Given the description of an element on the screen output the (x, y) to click on. 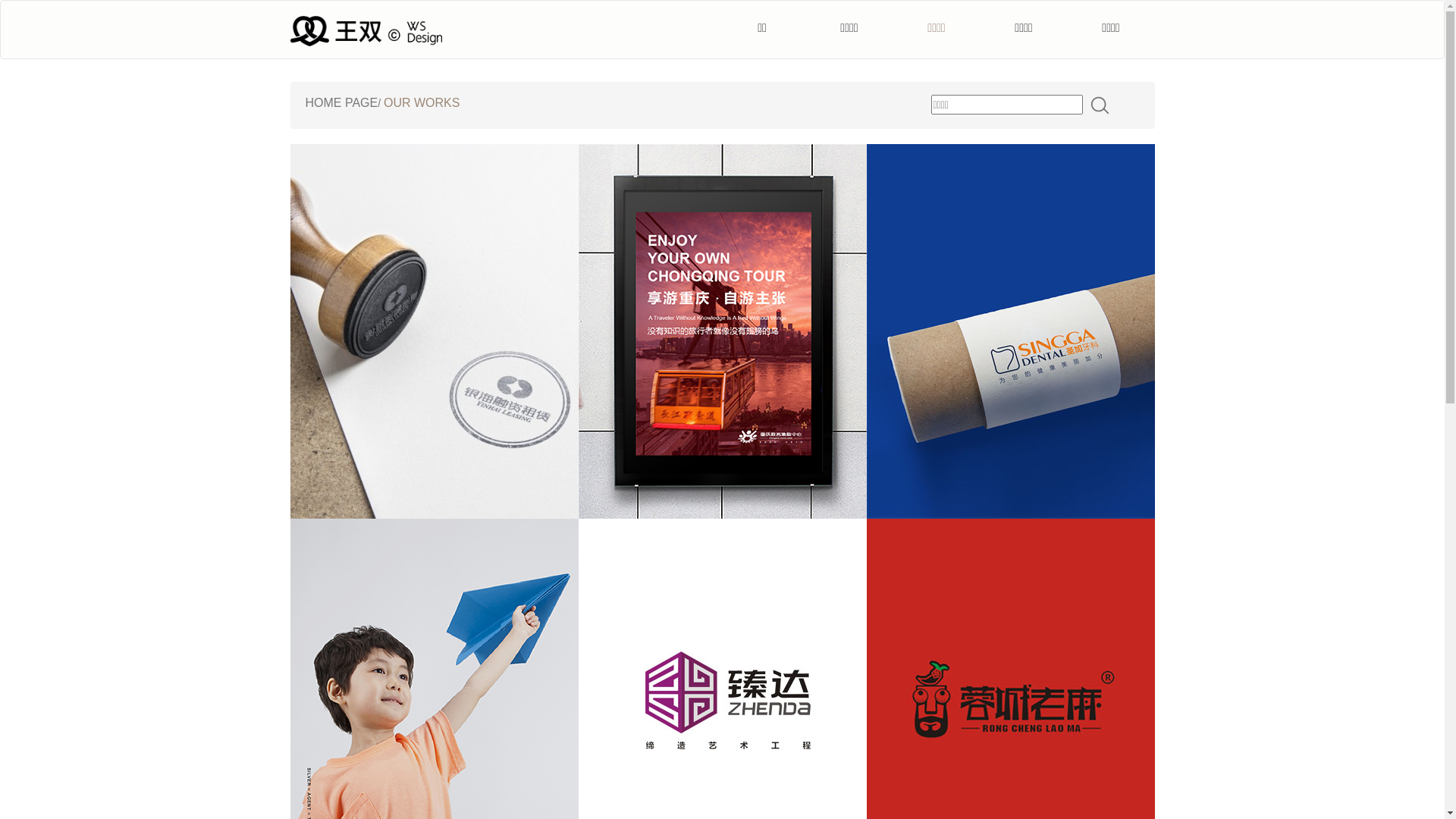
HOME PAGE Element type: text (340, 102)
OUR WORKS Element type: text (421, 102)
